Given the description of an element on the screen output the (x, y) to click on. 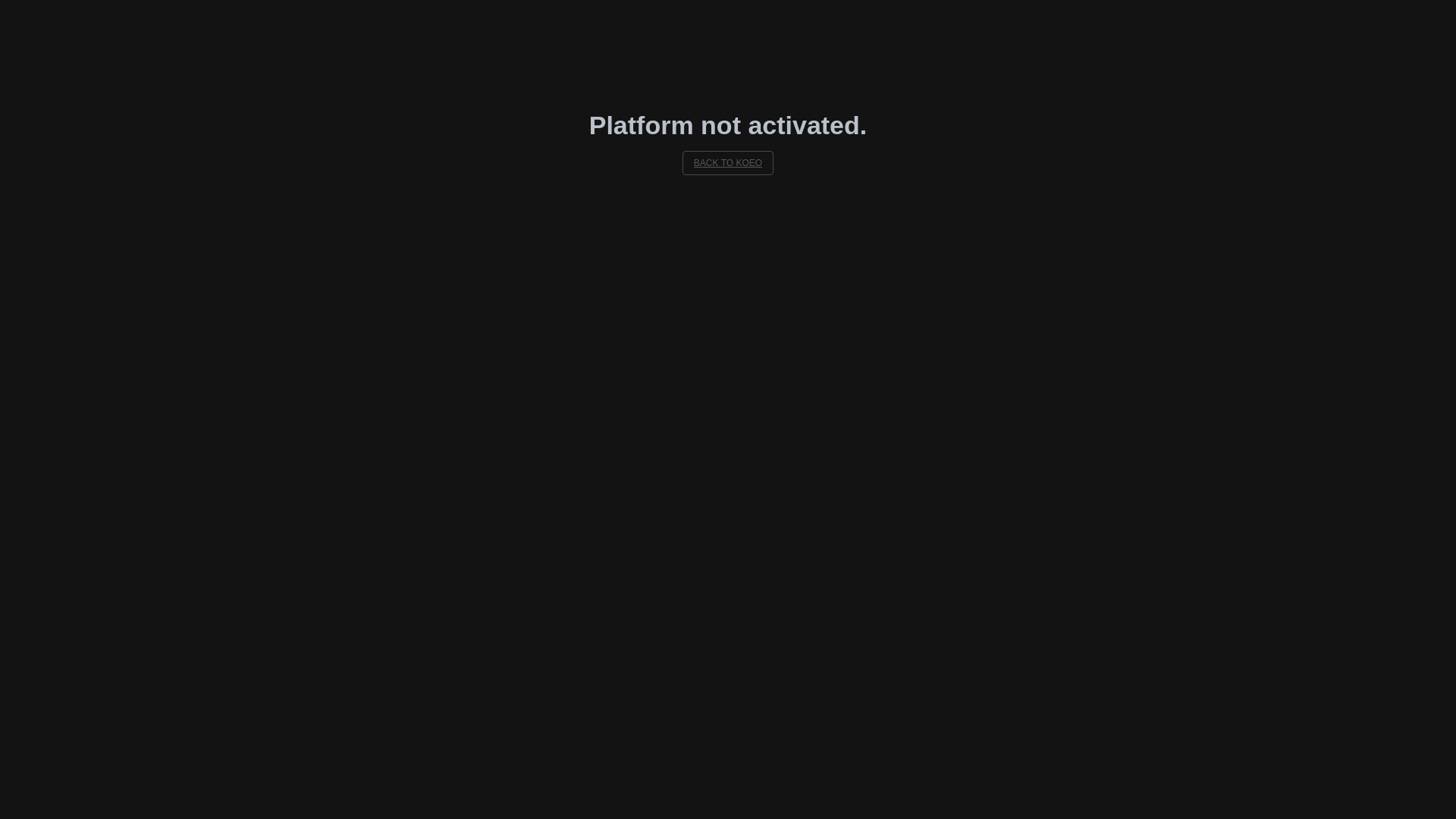
BACK TO KOEO Element type: text (727, 162)
